Given the description of an element on the screen output the (x, y) to click on. 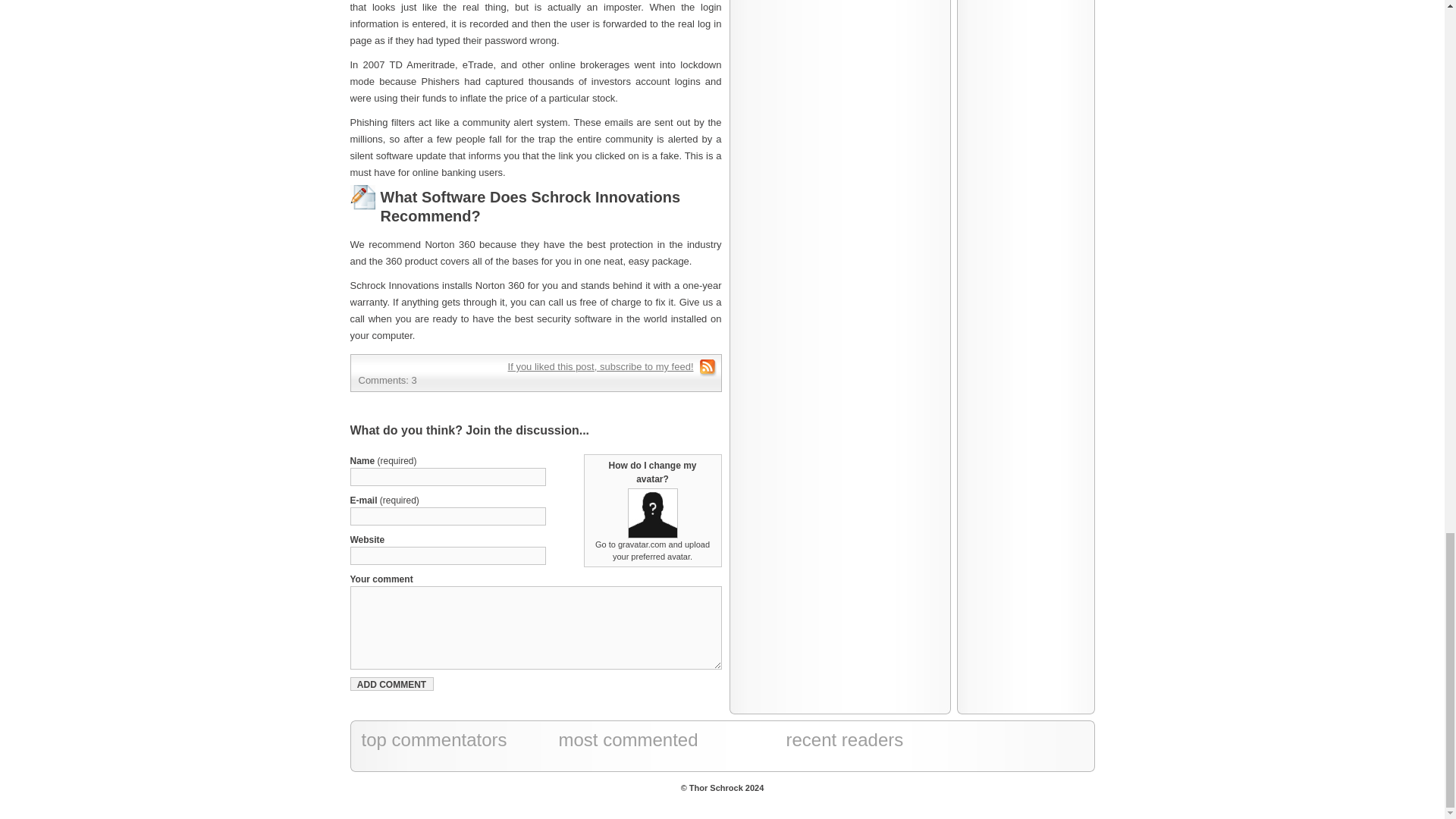
gravatar.com (641, 543)
If you liked this post, subscribe to my feed! (601, 366)
ADD COMMENT (391, 684)
ADD COMMENT (391, 684)
